Given the description of an element on the screen output the (x, y) to click on. 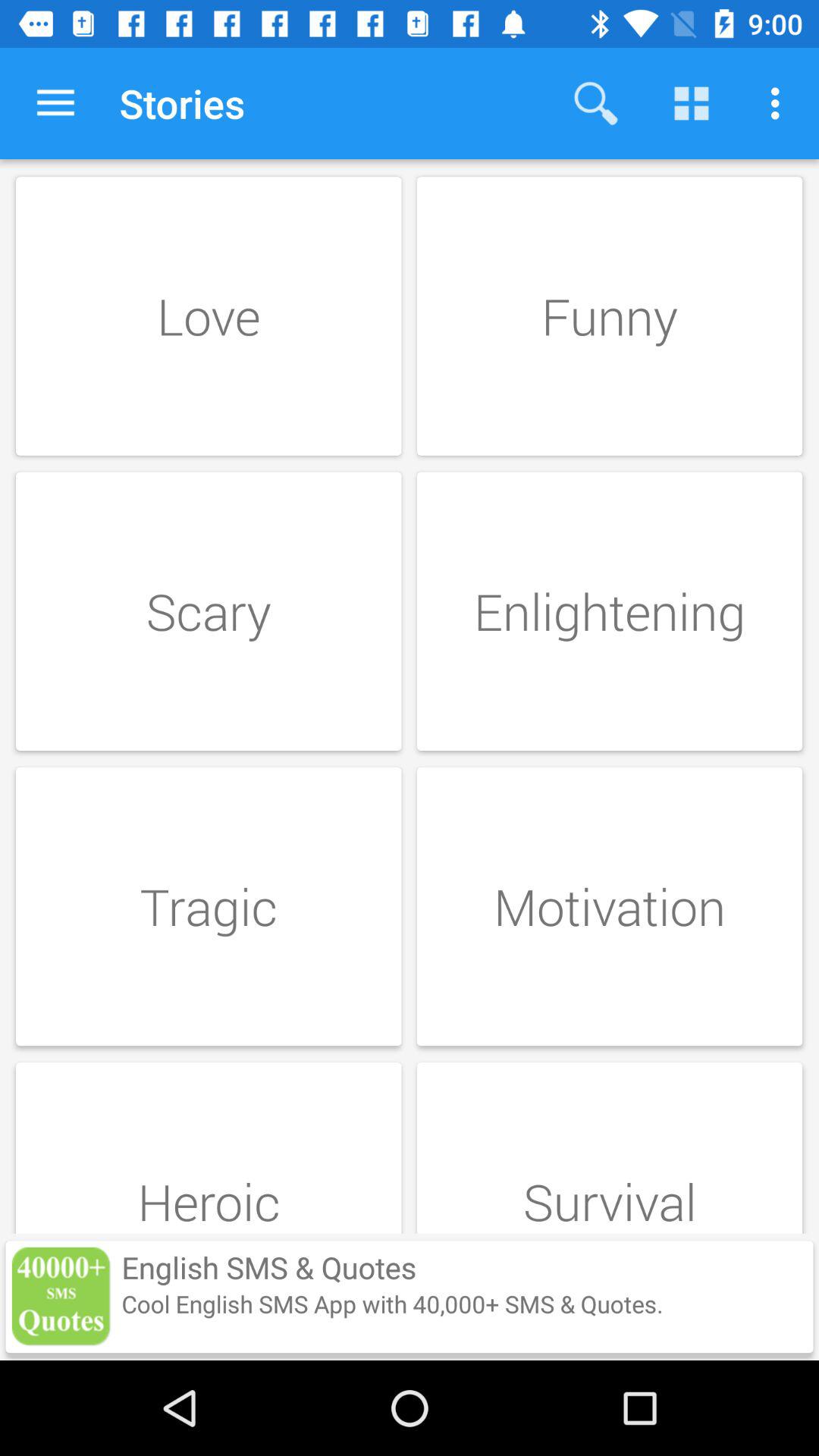
open item above the funny item (691, 103)
